Given the description of an element on the screen output the (x, y) to click on. 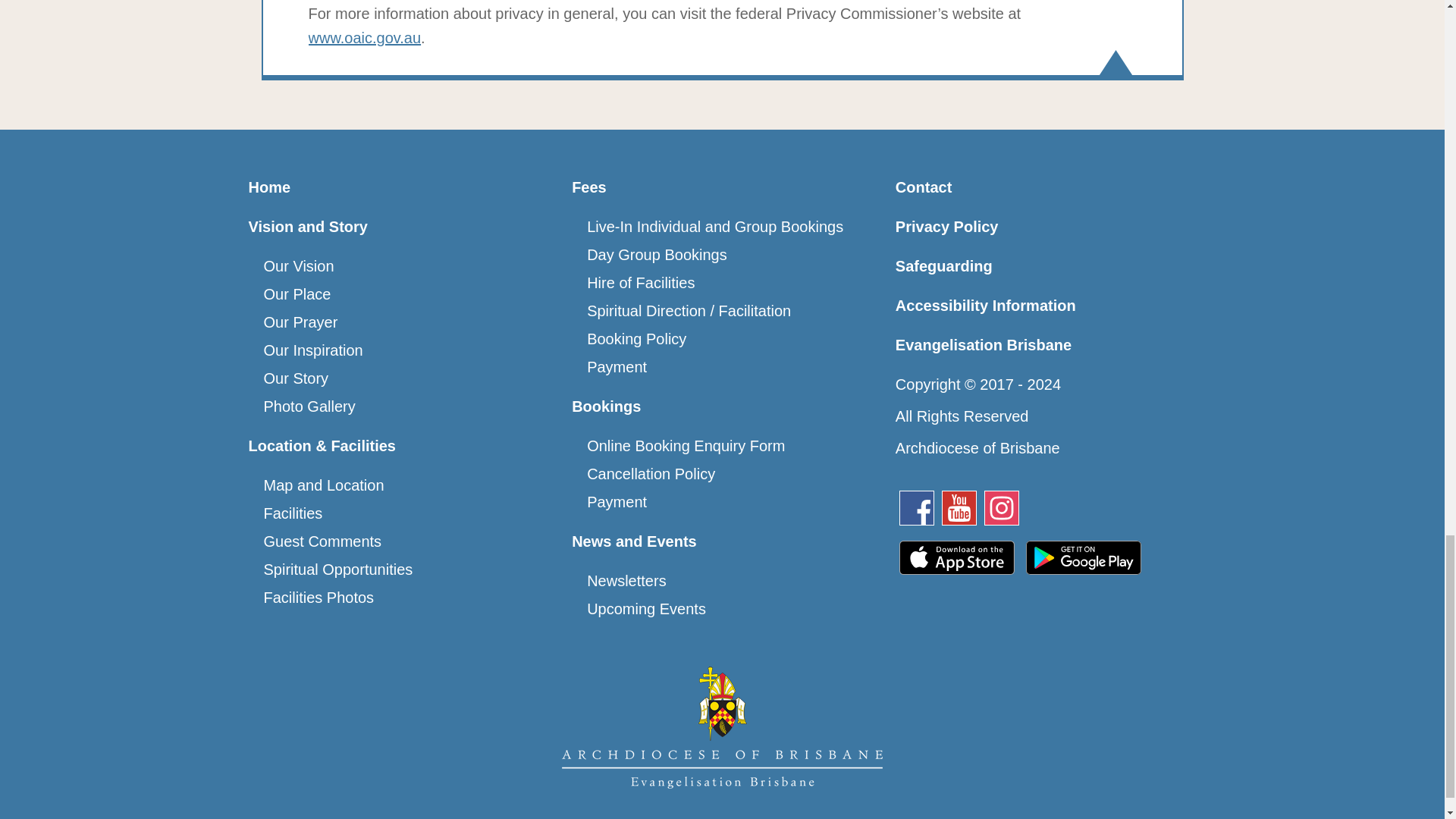
Facebook (923, 513)
Facilities Photos (318, 597)
Live-In Individual and Group Bookings (714, 226)
Our Inspiration (312, 350)
Our Vision (298, 265)
Booking Policy (635, 338)
Day Group Bookings (656, 254)
Download iOS App (956, 569)
Our Story (296, 378)
Map and Location (323, 484)
Payment (616, 366)
Archdiocese of Brisbane YouTube (958, 507)
Fees (589, 187)
Evangelisation Brisbane (722, 726)
Home (269, 187)
